Given the description of an element on the screen output the (x, y) to click on. 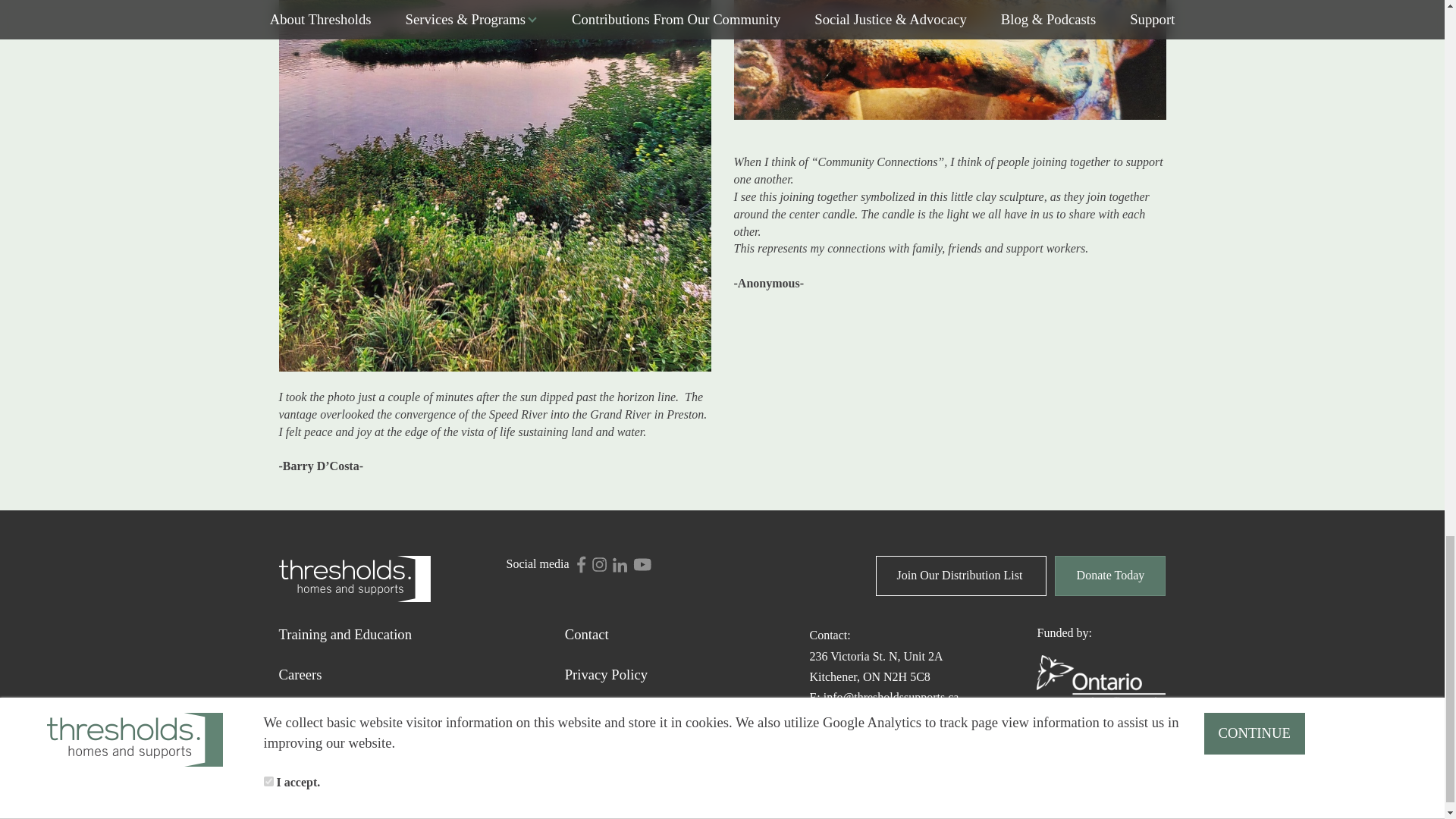
Property Management Services (421, 714)
P: 519-742-3191 (850, 717)
Join Our Distribution List (961, 576)
REM Web Solutions (663, 780)
F: 519-742-5232 (850, 738)
Thresholds Homes and Supports (354, 577)
Accessibility Policy (675, 714)
Donate Today (875, 666)
Training and Education (1110, 576)
